Given the description of an element on the screen output the (x, y) to click on. 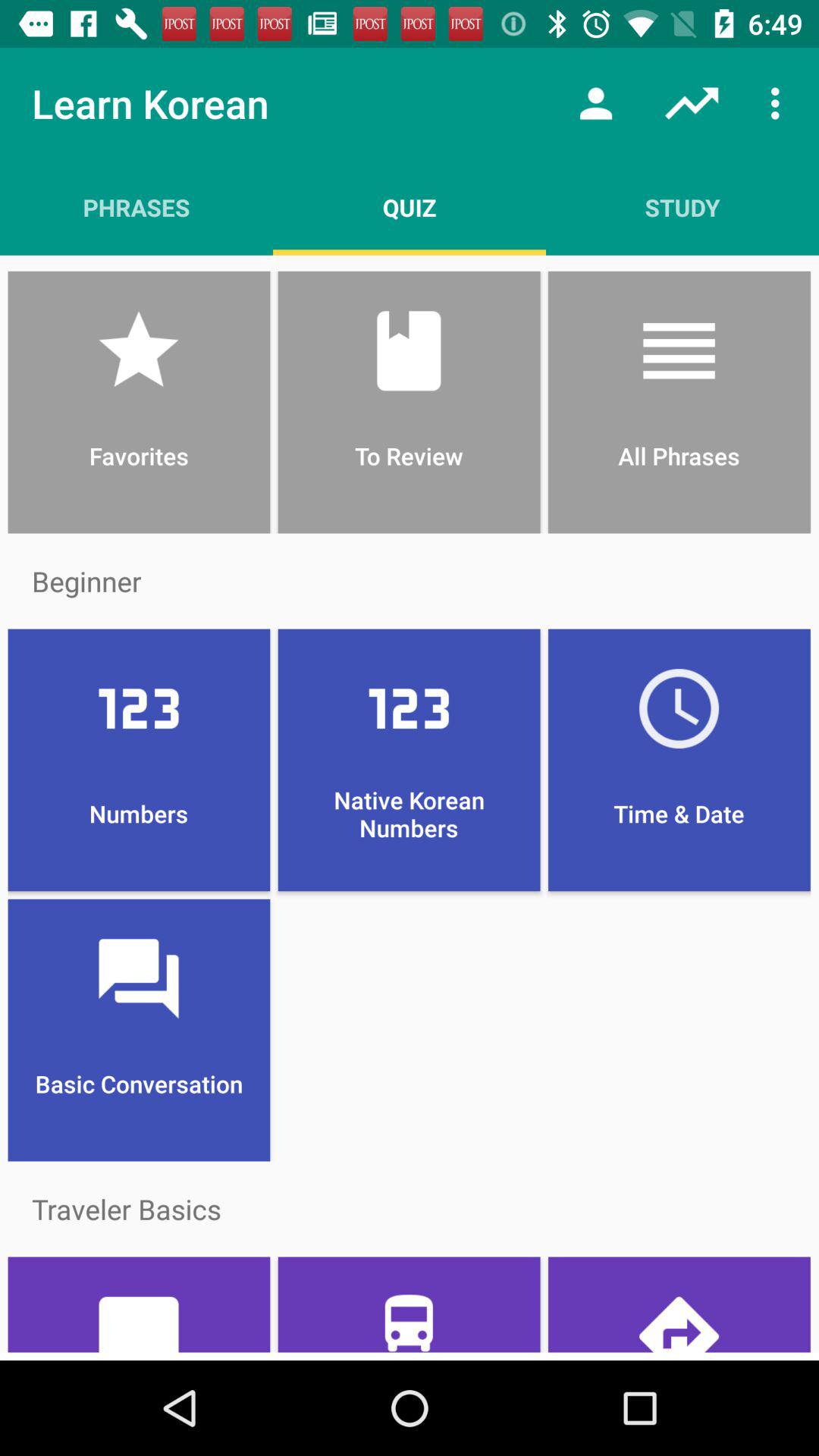
choose the item next to the quiz icon (682, 207)
